Given the description of an element on the screen output the (x, y) to click on. 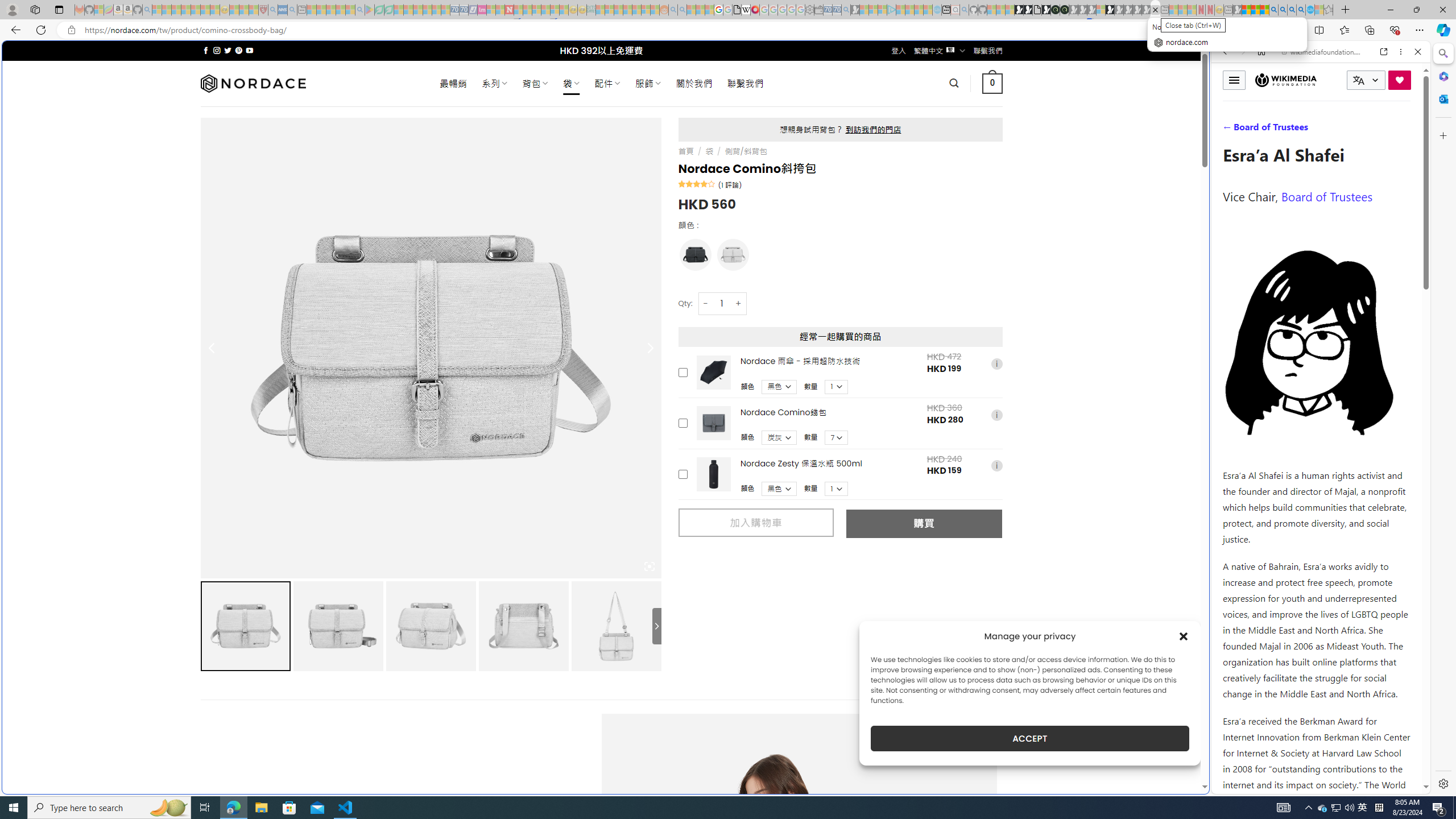
Close split screen (1208, 57)
2009 Bing officially replaced Live Search on June 3 - Search (1283, 9)
Board of Trustees (1326, 195)
Search Filter, VIDEOS (1300, 129)
Forward (1242, 51)
